Given the description of an element on the screen output the (x, y) to click on. 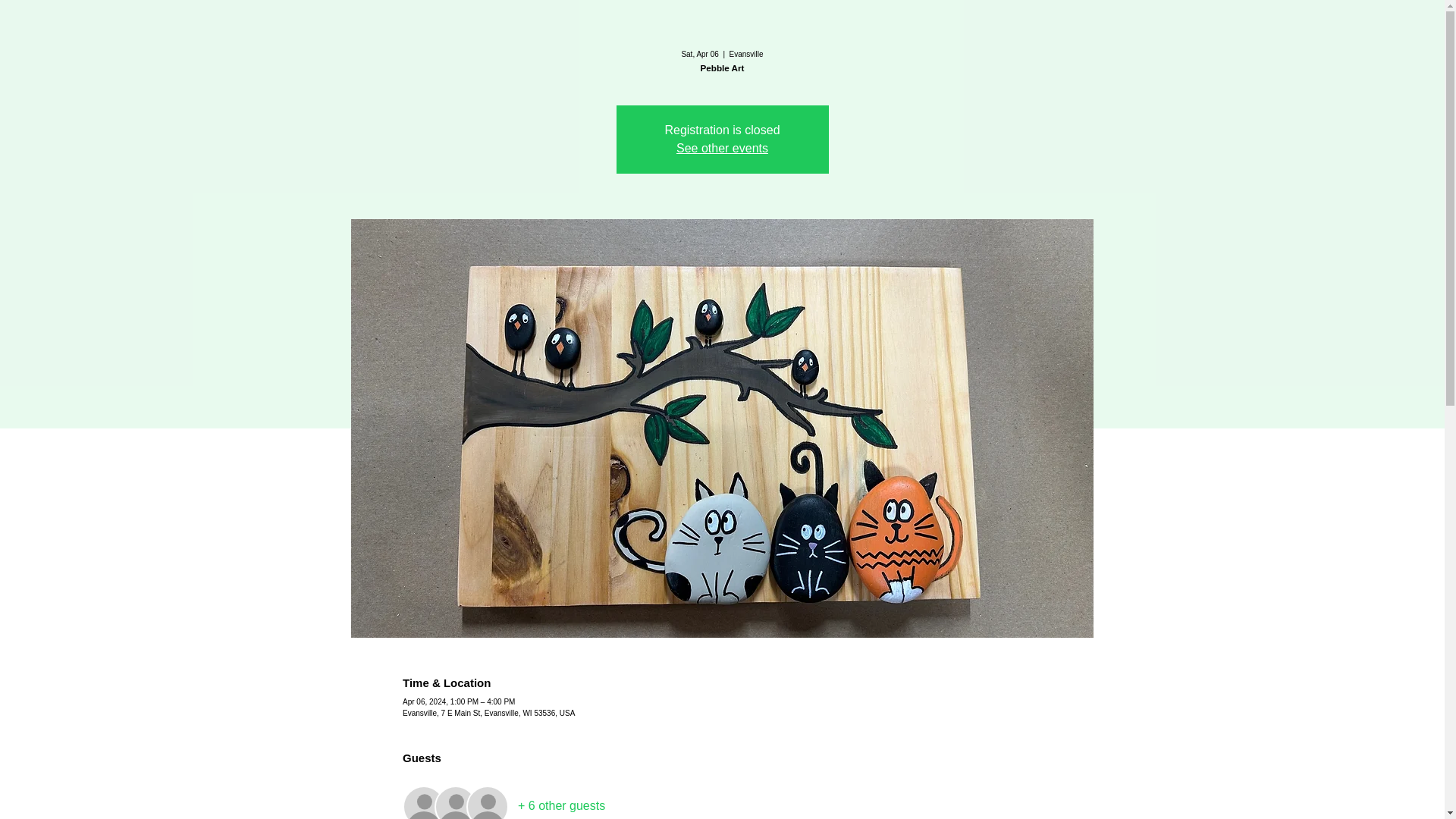
See other events (722, 147)
